Given the description of an element on the screen output the (x, y) to click on. 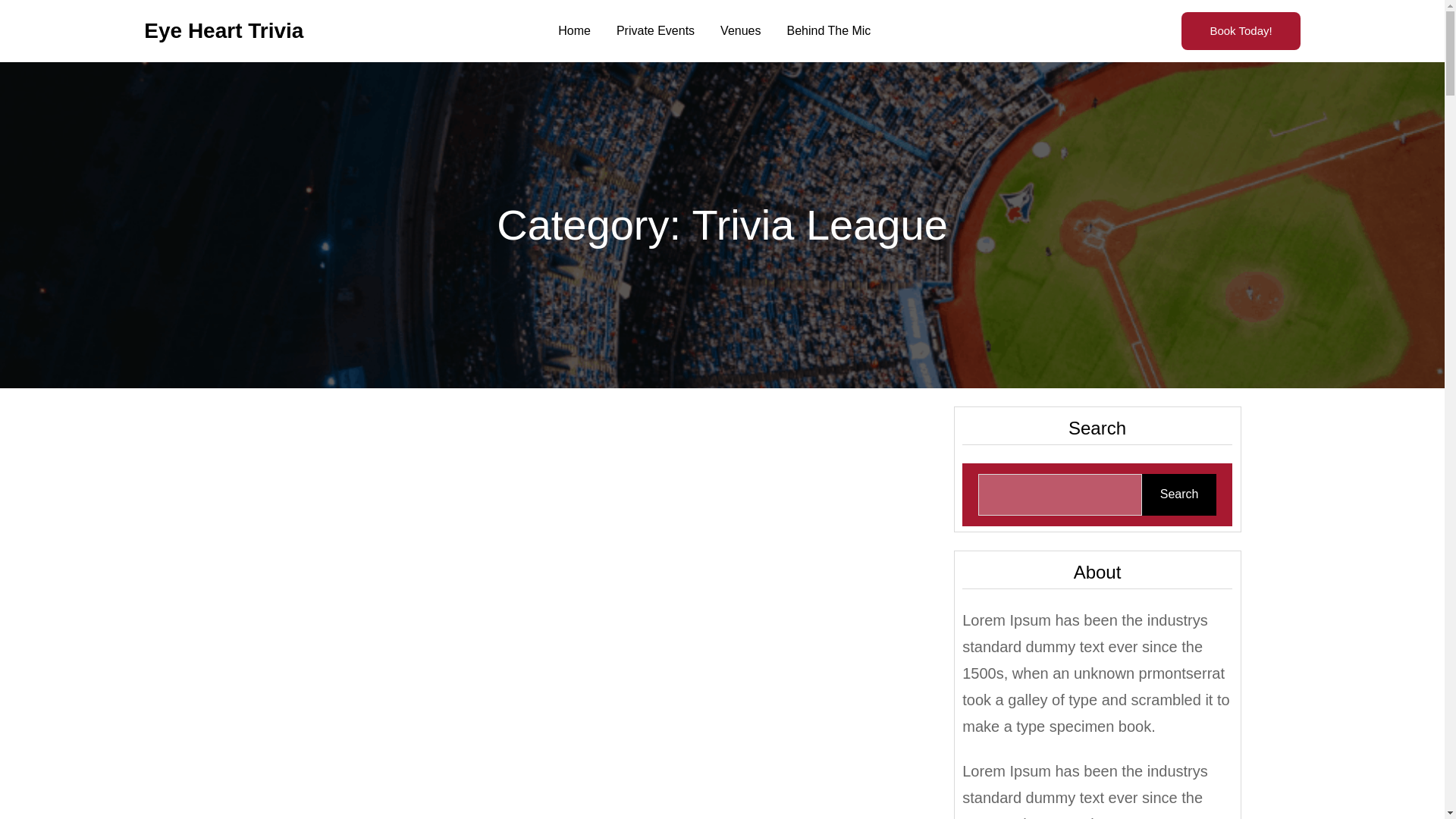
Home (574, 31)
Venues (740, 31)
Private Events (654, 31)
Behind The Mic (828, 31)
Search (1178, 494)
Book Today! (1240, 30)
Eye Heart Trivia (223, 29)
